Given the description of an element on the screen output the (x, y) to click on. 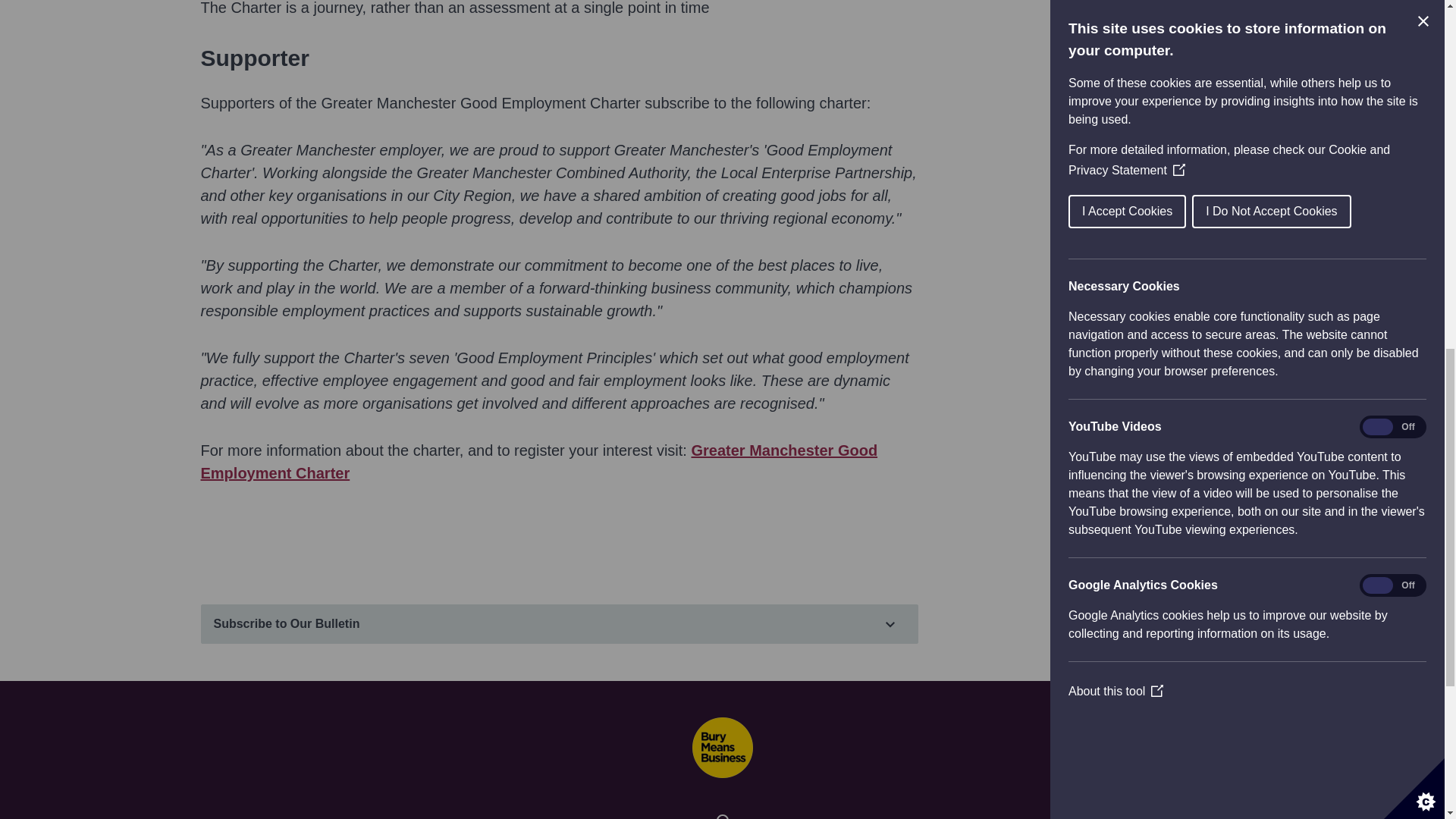
Greater Manchester Good Employment Charter (538, 461)
External web site  (538, 461)
Subscribe to Our Bulletin (558, 623)
